Given the description of an element on the screen output the (x, y) to click on. 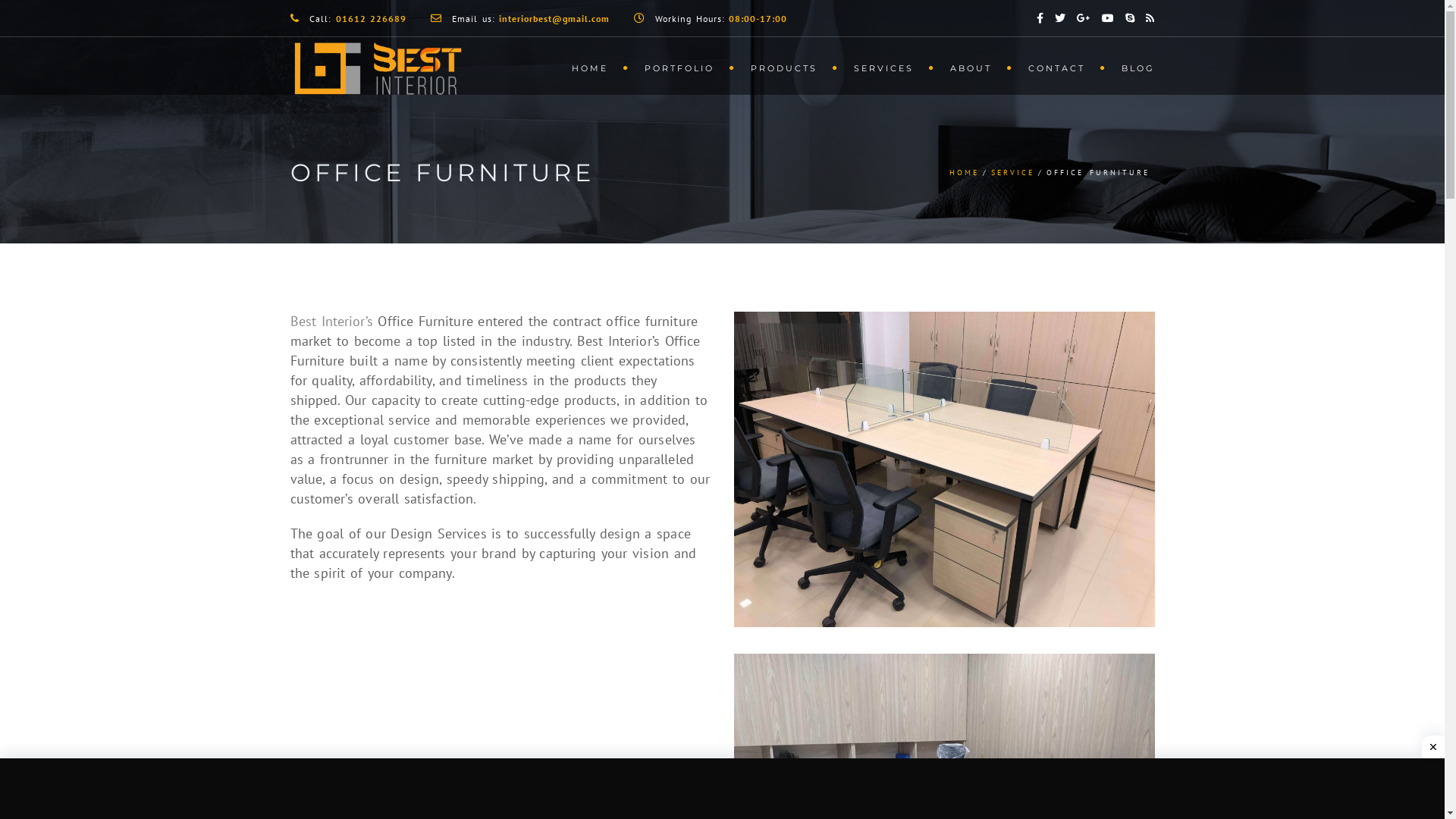
BLOG Element type: text (1129, 67)
HOME Element type: text (964, 172)
ABOUT Element type: text (973, 67)
Advertisement Element type: hover (458, 680)
HOME Element type: text (592, 67)
PRODUCTS Element type: text (786, 67)
PORTFOLIO Element type: text (682, 67)
CONTACT Element type: text (1059, 67)
Office Furniture (1) Element type: hover (944, 469)
SERVICES Element type: text (886, 67)
Advertisement Element type: hover (729, 788)
SERVICE Element type: text (1012, 172)
